Given the description of an element on the screen output the (x, y) to click on. 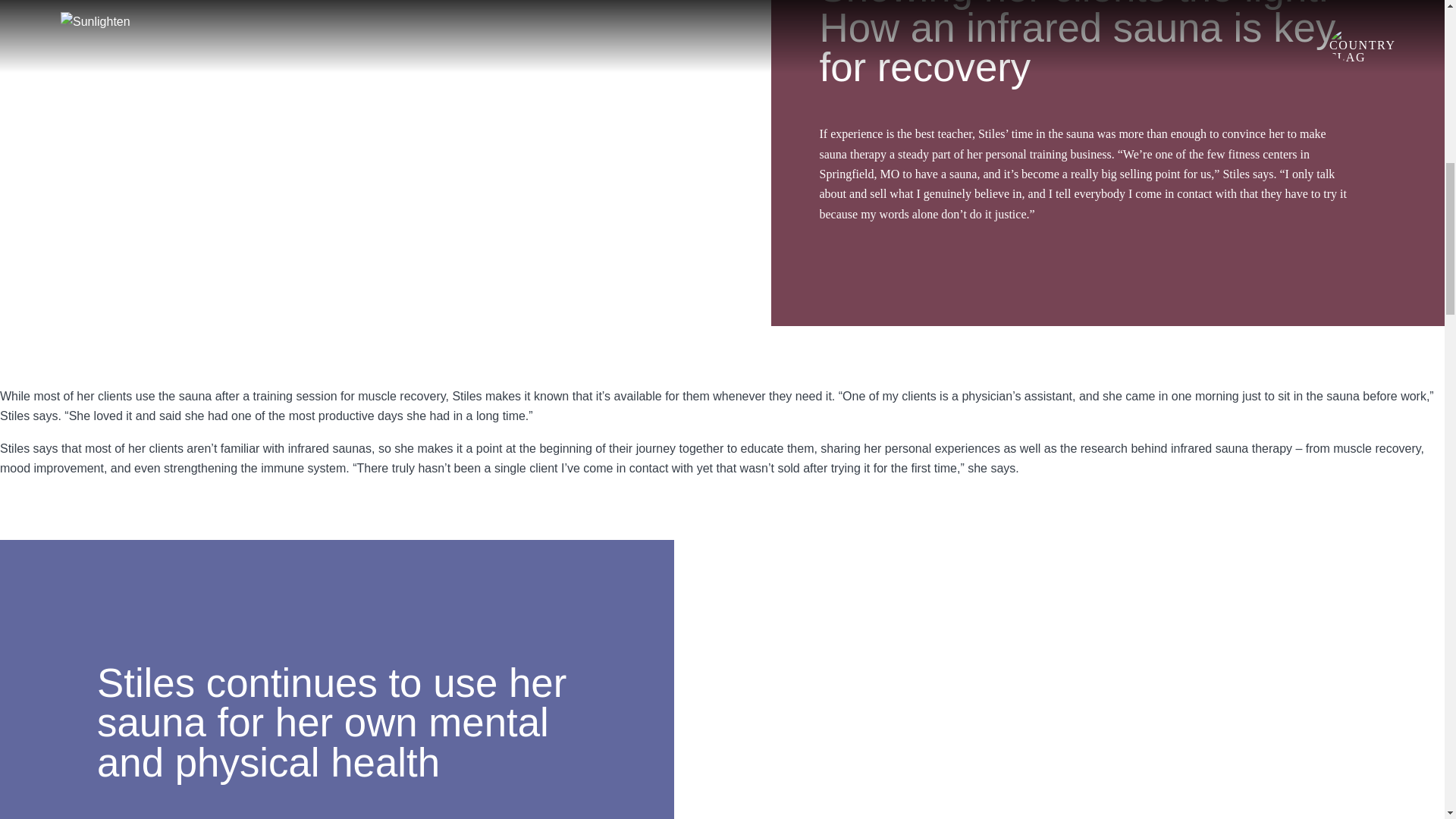
muscle recovery (401, 395)
immune system (303, 468)
research (1103, 448)
